Given the description of an element on the screen output the (x, y) to click on. 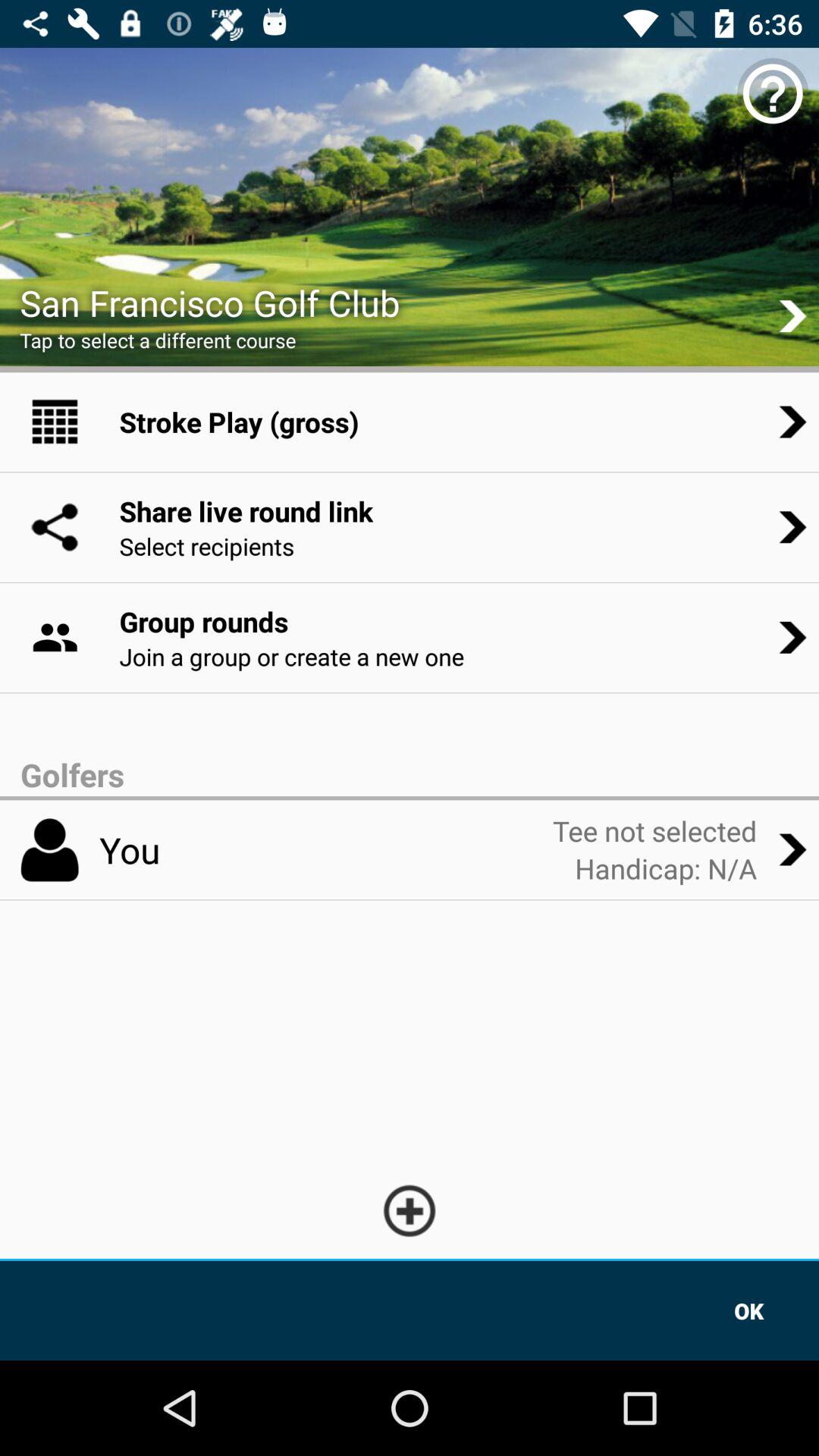
turn on the icon at the bottom right corner (749, 1310)
